Given the description of an element on the screen output the (x, y) to click on. 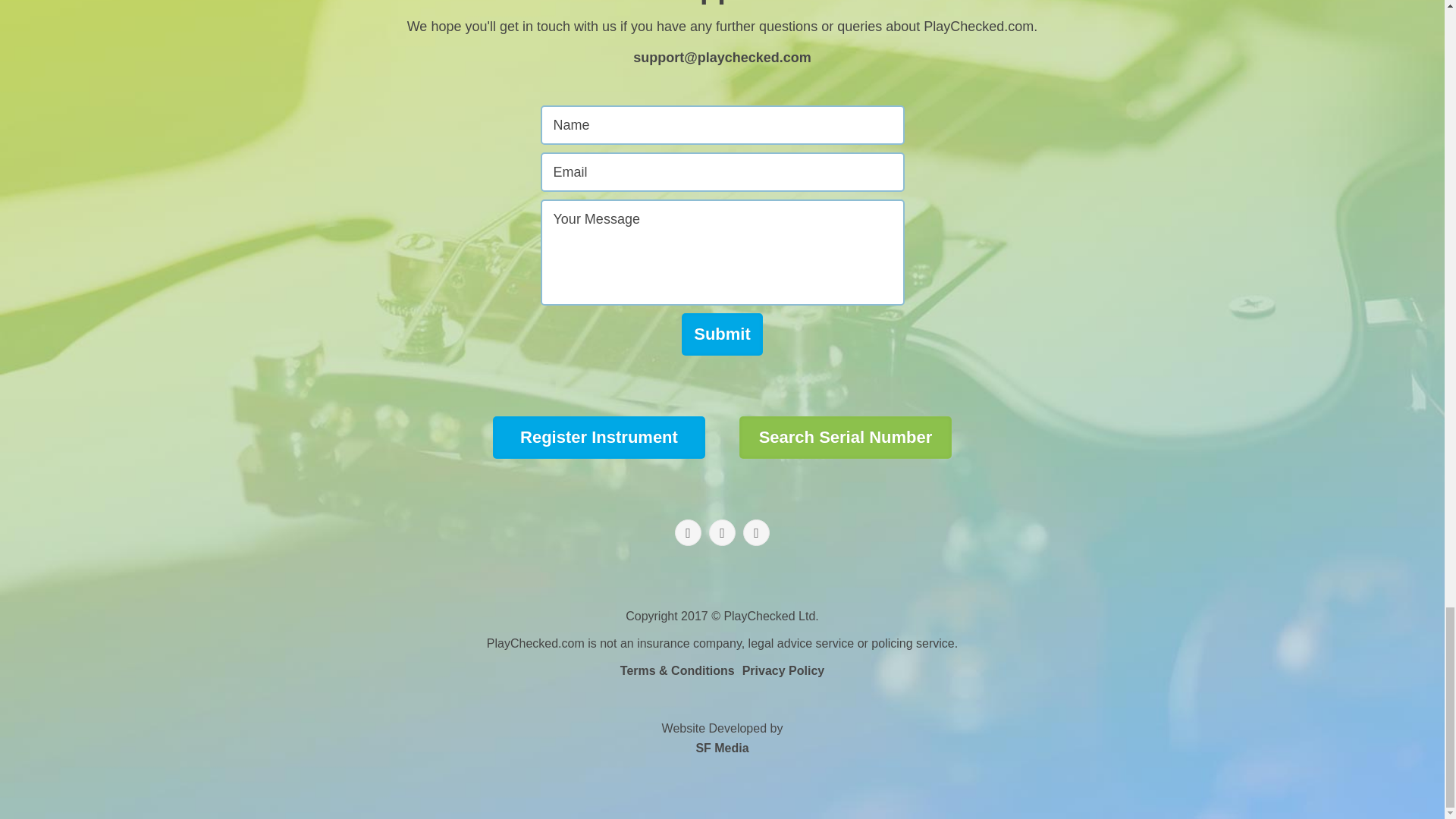
Search Serial Number (722, 737)
Submit (845, 437)
Register Instrument (721, 333)
Privacy Policy (598, 437)
Submit (783, 670)
